Given the description of an element on the screen output the (x, y) to click on. 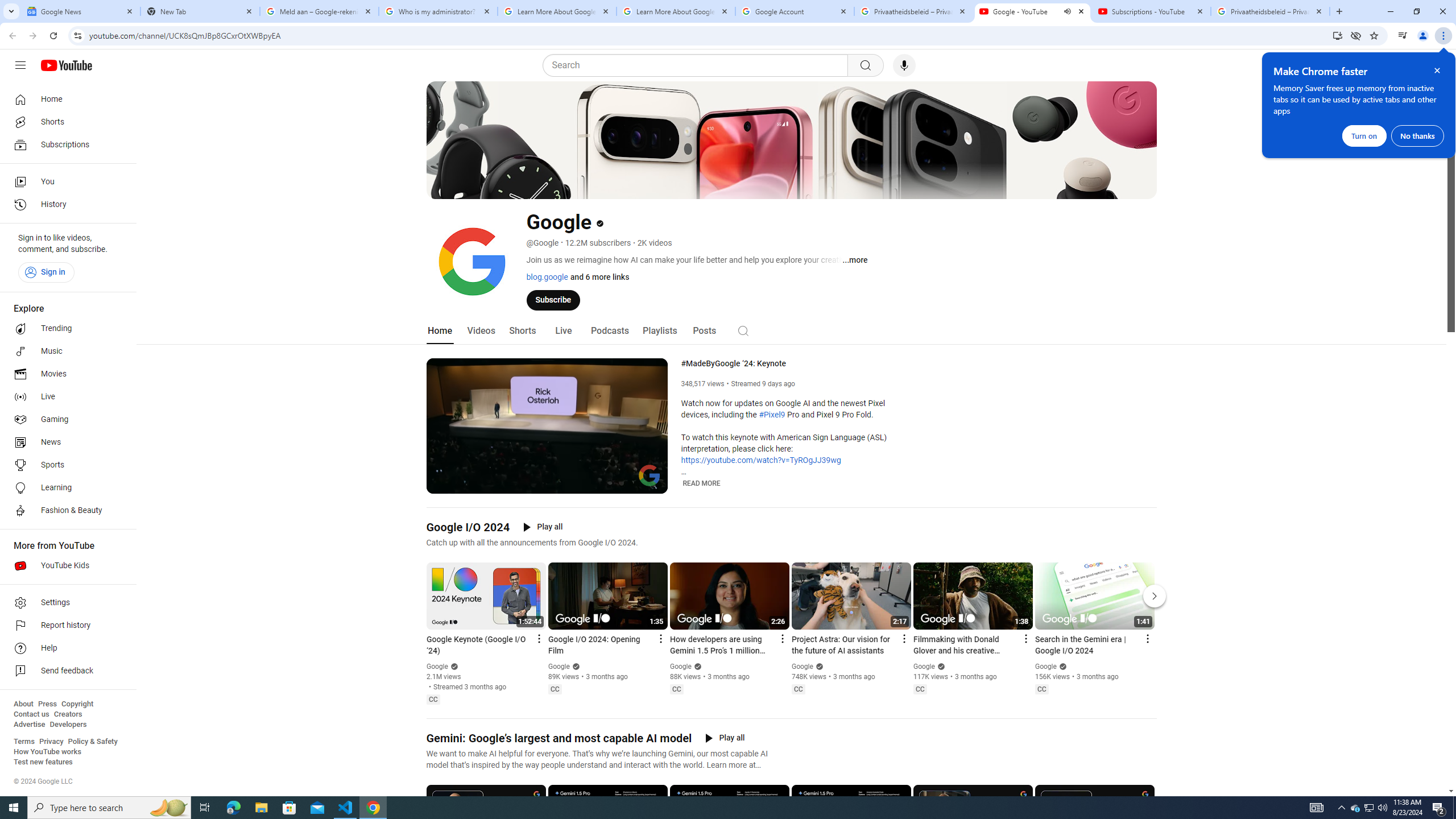
Developers (68, 724)
Posts (703, 330)
Press (46, 703)
Seek slider (546, 471)
Who is my administrator? - Google Account Help (438, 11)
Action menu (1146, 638)
News (64, 441)
Sports (64, 464)
and 6 more links (598, 276)
Google (1046, 666)
